Given the description of an element on the screen output the (x, y) to click on. 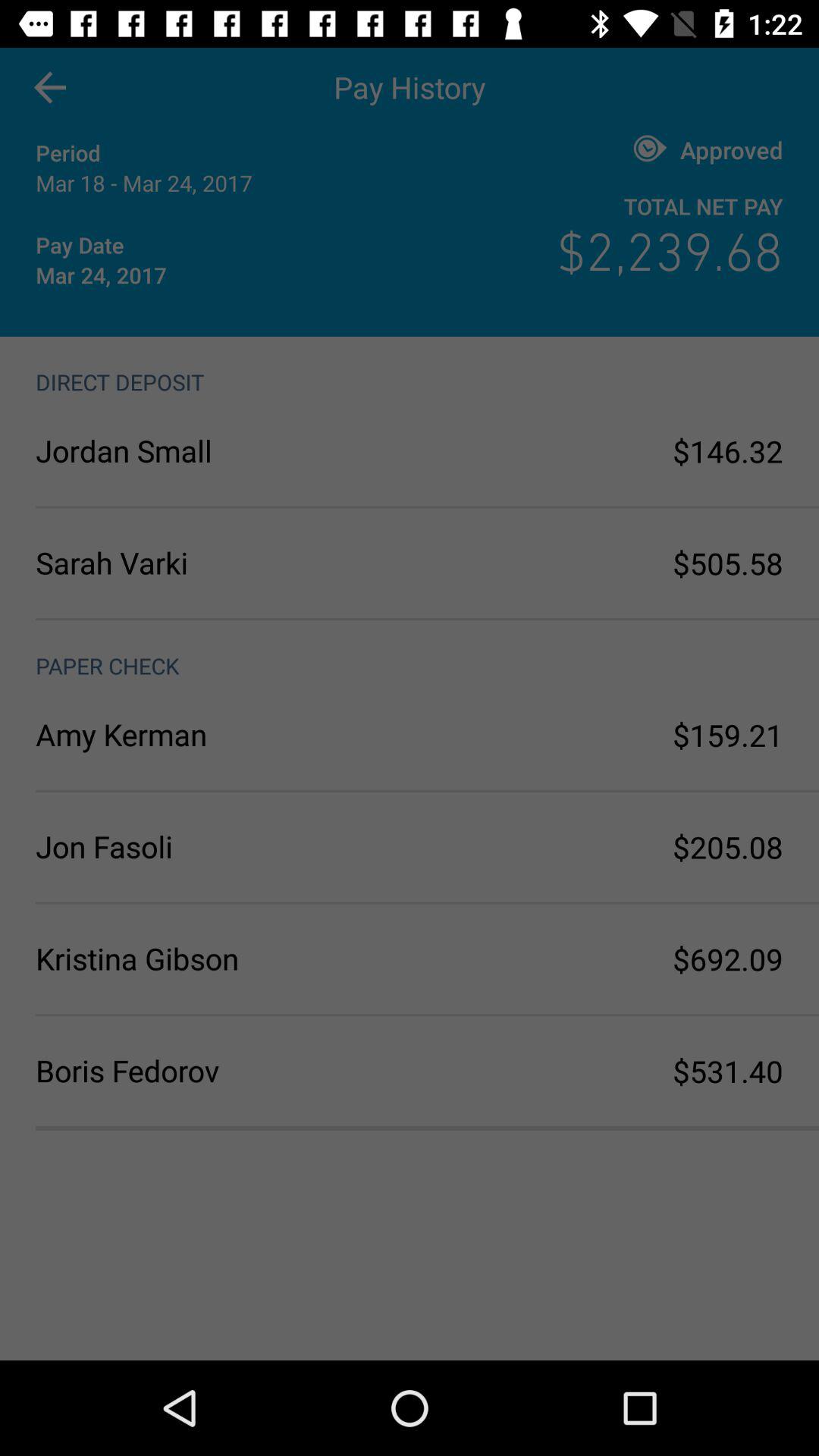
press the item at the bottom left corner (222, 1070)
